Given the description of an element on the screen output the (x, y) to click on. 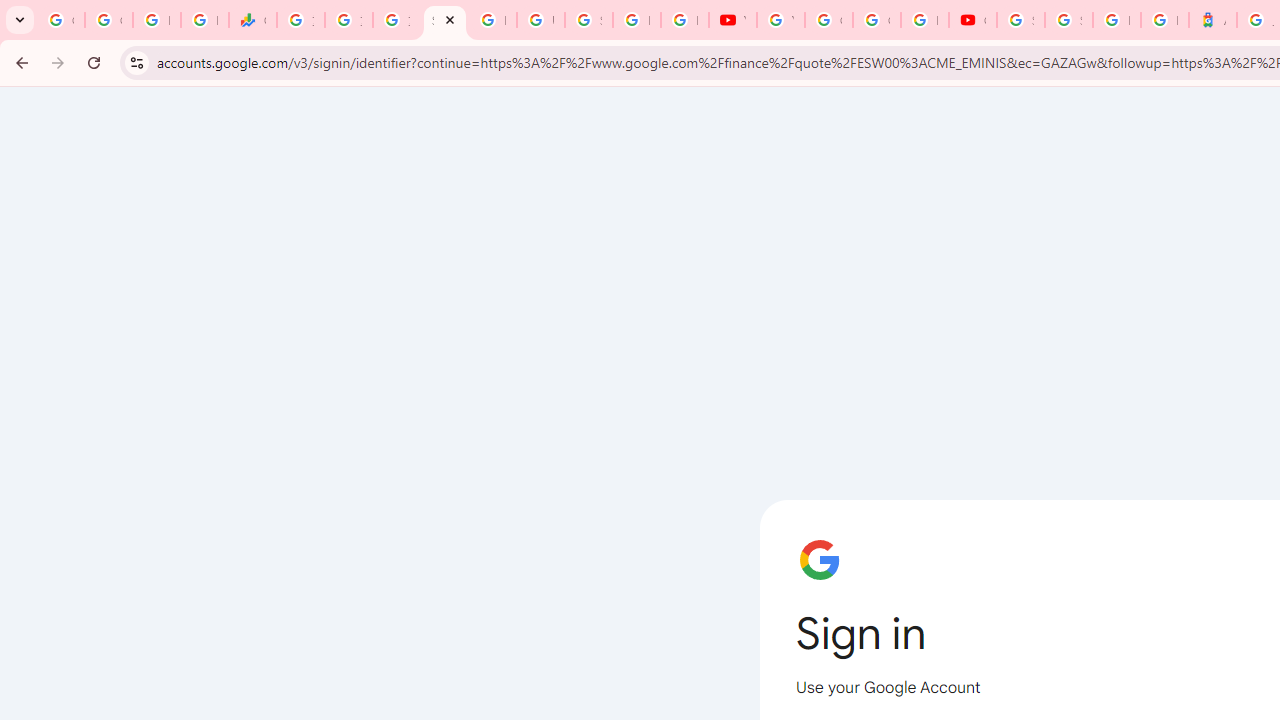
Sign in - Google Accounts (444, 20)
Google Workspace Admin Community (60, 20)
Sign in - Google Accounts (1068, 20)
YouTube (732, 20)
YouTube (780, 20)
Create your Google Account (876, 20)
